Given the description of an element on the screen output the (x, y) to click on. 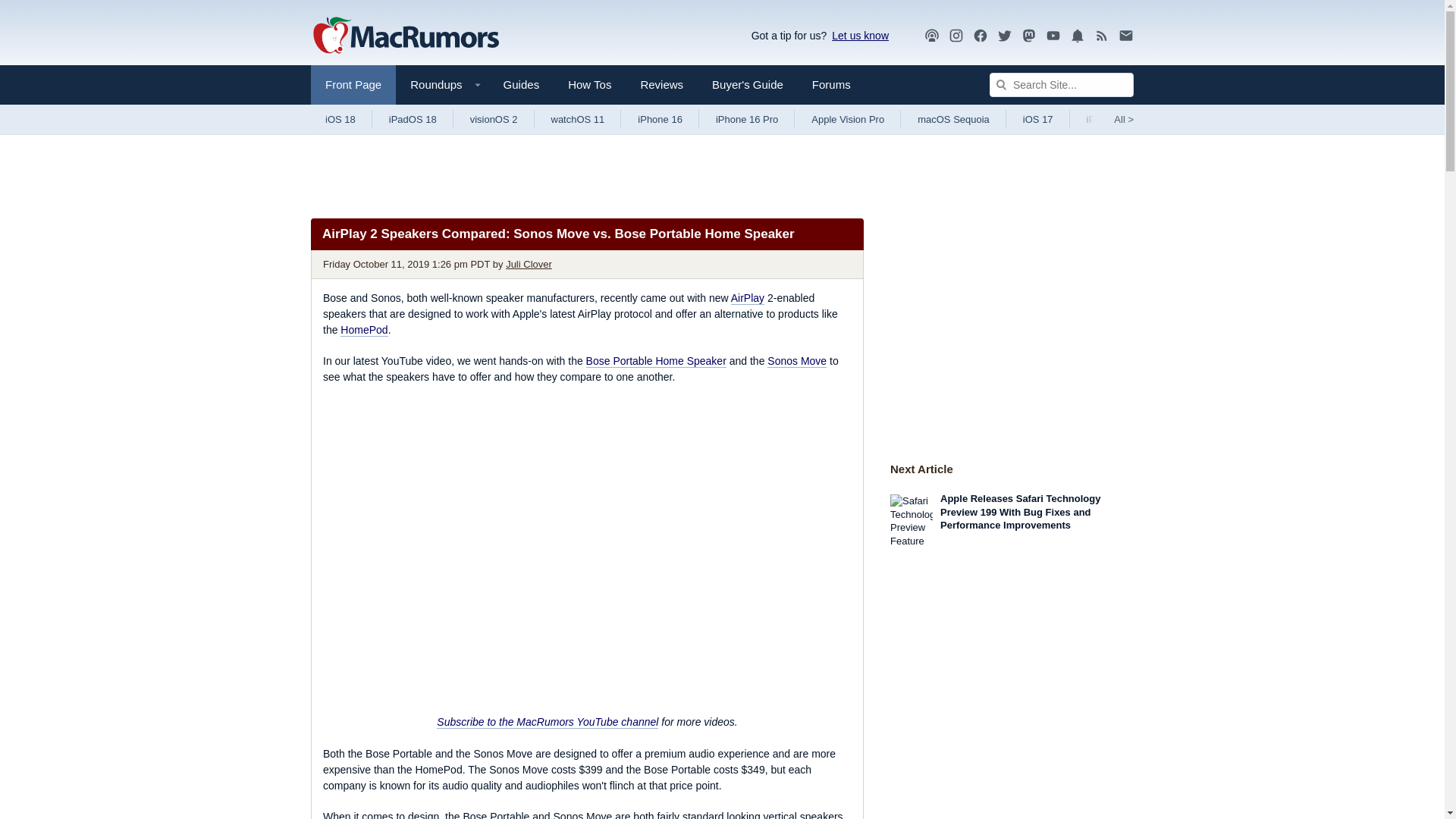
Reviews (661, 84)
YouTube (1053, 35)
Mastodon (1029, 35)
MacRumors YouTube Channel (1053, 35)
Buyer's Guide (747, 84)
Notifications (1077, 35)
MacRumors Push Notifications (1077, 35)
Twitter (1004, 35)
Newsletter (1126, 35)
YouTube (1053, 35)
Twitter (1004, 35)
Roundups (441, 84)
RSS (1101, 35)
Mastodon (1029, 35)
Front (353, 84)
